Given the description of an element on the screen output the (x, y) to click on. 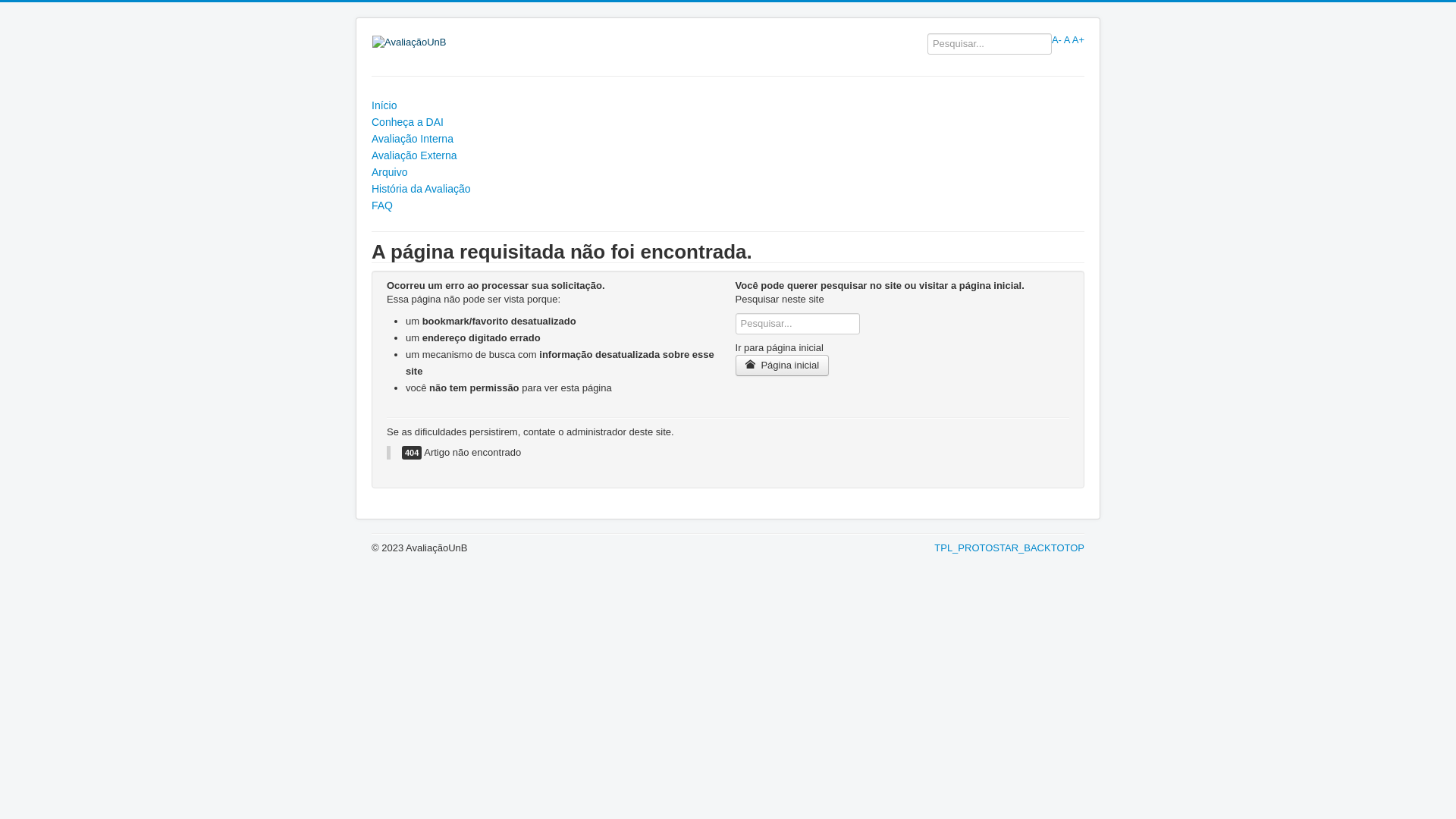
TPL_PROTOSTAR_BACKTOTOP Element type: text (1009, 548)
FAQ Element type: text (727, 205)
A+ Element type: text (1078, 39)
A- Element type: text (1056, 39)
A Element type: text (1066, 39)
Arquivo Element type: text (727, 171)
